Given the description of an element on the screen output the (x, y) to click on. 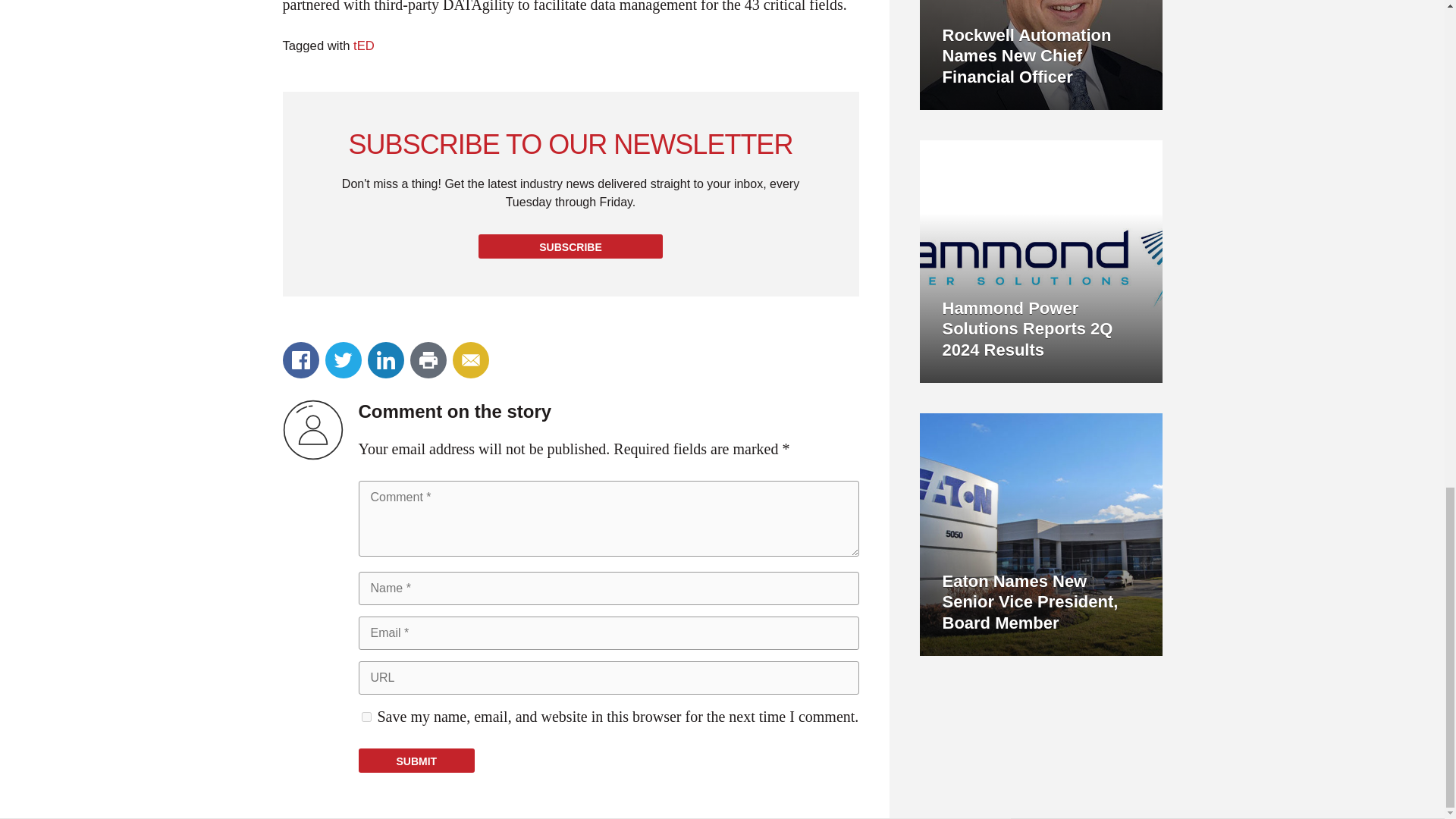
Submit (416, 760)
yes (366, 716)
